Given the description of an element on the screen output the (x, y) to click on. 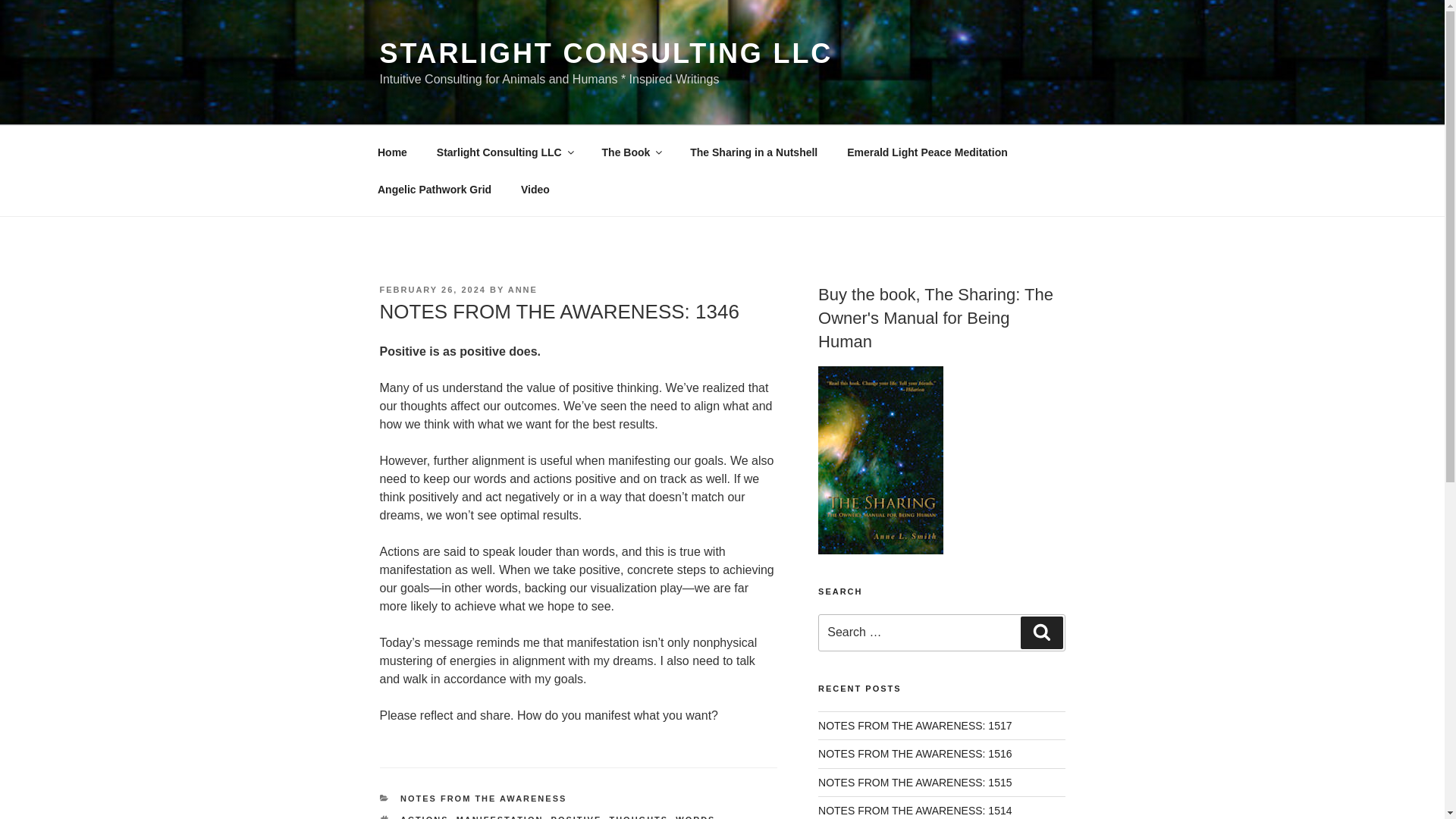
MANIFESTATION (500, 816)
Starlight Consulting LLC (504, 151)
The Sharing in a Nutshell (754, 151)
STARLIGHT CONSULTING LLC (605, 52)
ANNE (522, 289)
Emerald Light Peace Meditation (928, 151)
POSITIVE (576, 816)
Video (535, 189)
FEBRUARY 26, 2024 (431, 289)
The Book (631, 151)
